Given the description of an element on the screen output the (x, y) to click on. 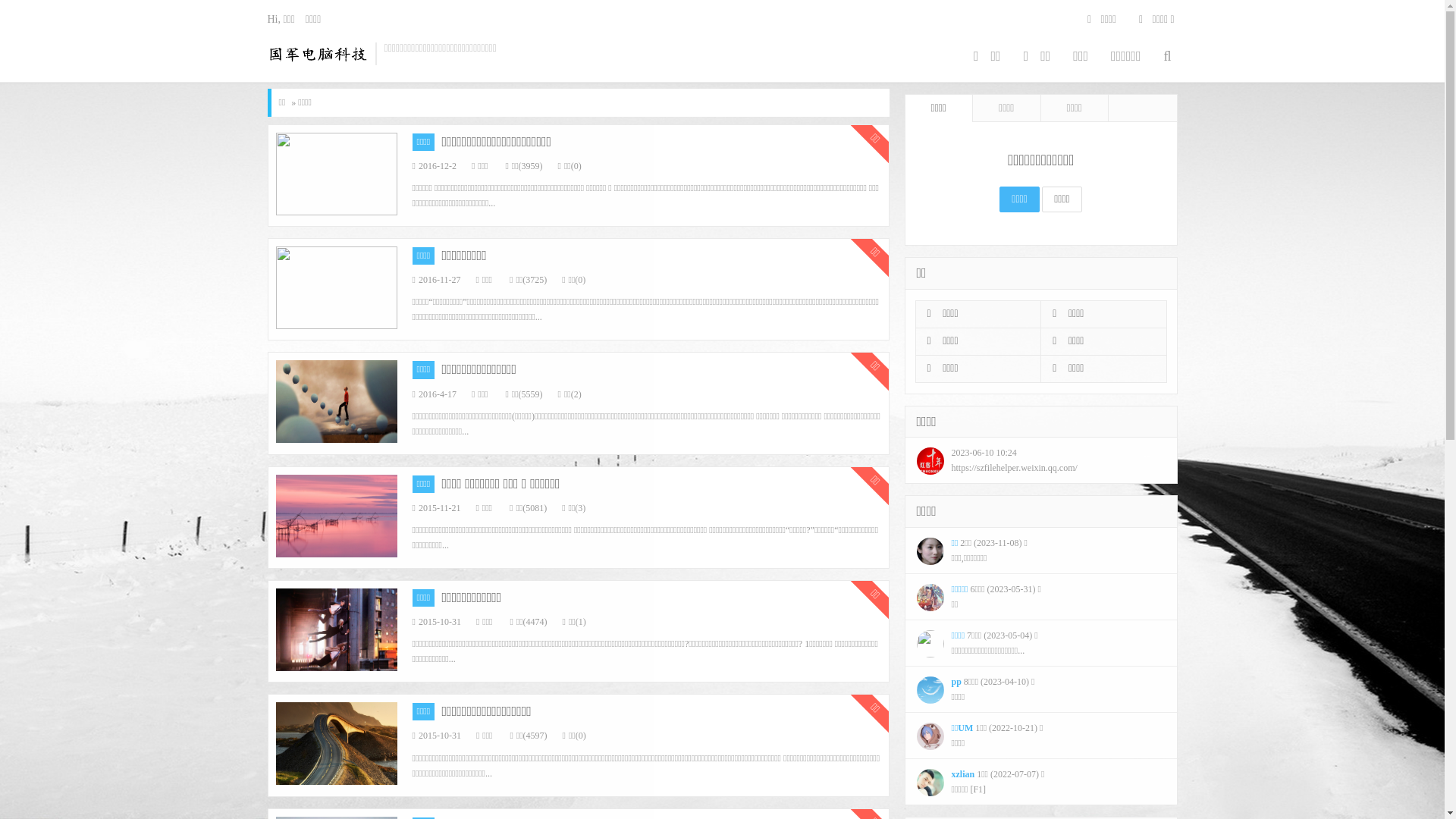
2023-06-10 10:24
https://szfilehelper.weixin.qq.com/ Element type: text (1040, 460)
